Given the description of an element on the screen output the (x, y) to click on. 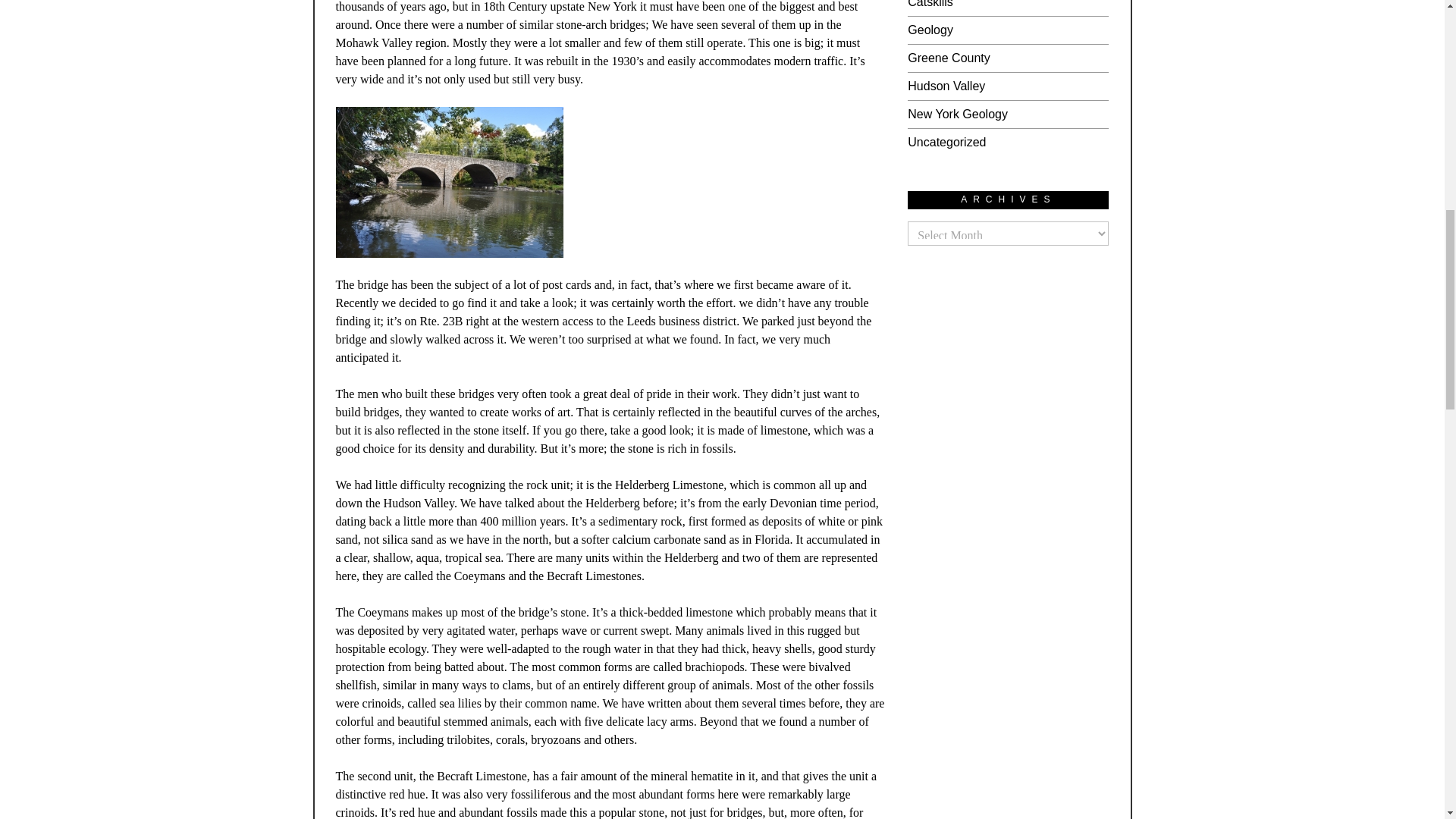
Catskills (930, 4)
Geology (930, 29)
New York Geology (957, 113)
Hudson Valley (946, 85)
Uncategorized (946, 141)
Greene County (948, 57)
